Given the description of an element on the screen output the (x, y) to click on. 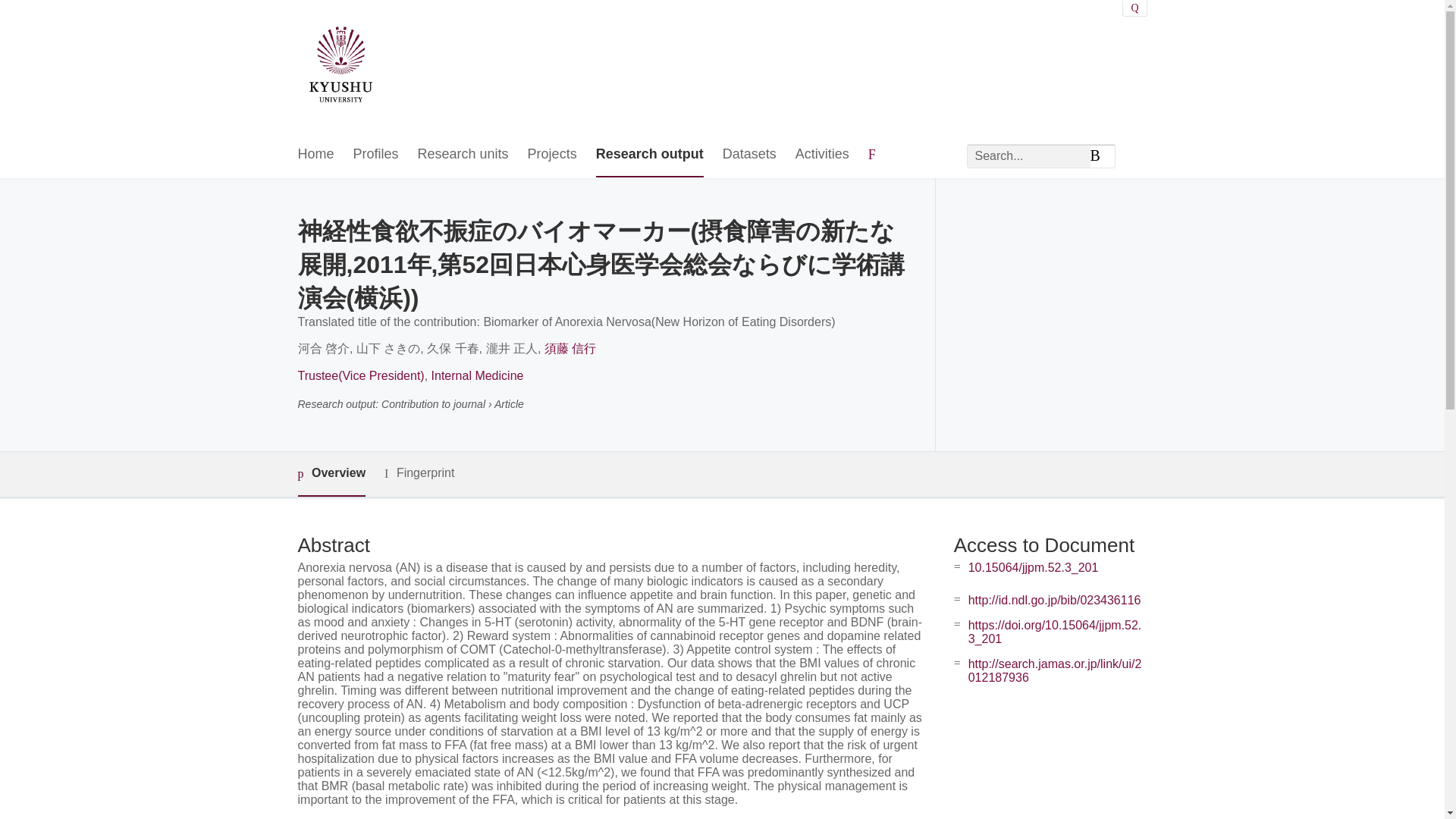
Research units (462, 154)
Internal Medicine (477, 375)
Projects (551, 154)
Profiles (375, 154)
Fingerprint (419, 473)
Overview (331, 474)
Activities (821, 154)
Research output (649, 154)
Datasets (749, 154)
